Given the description of an element on the screen output the (x, y) to click on. 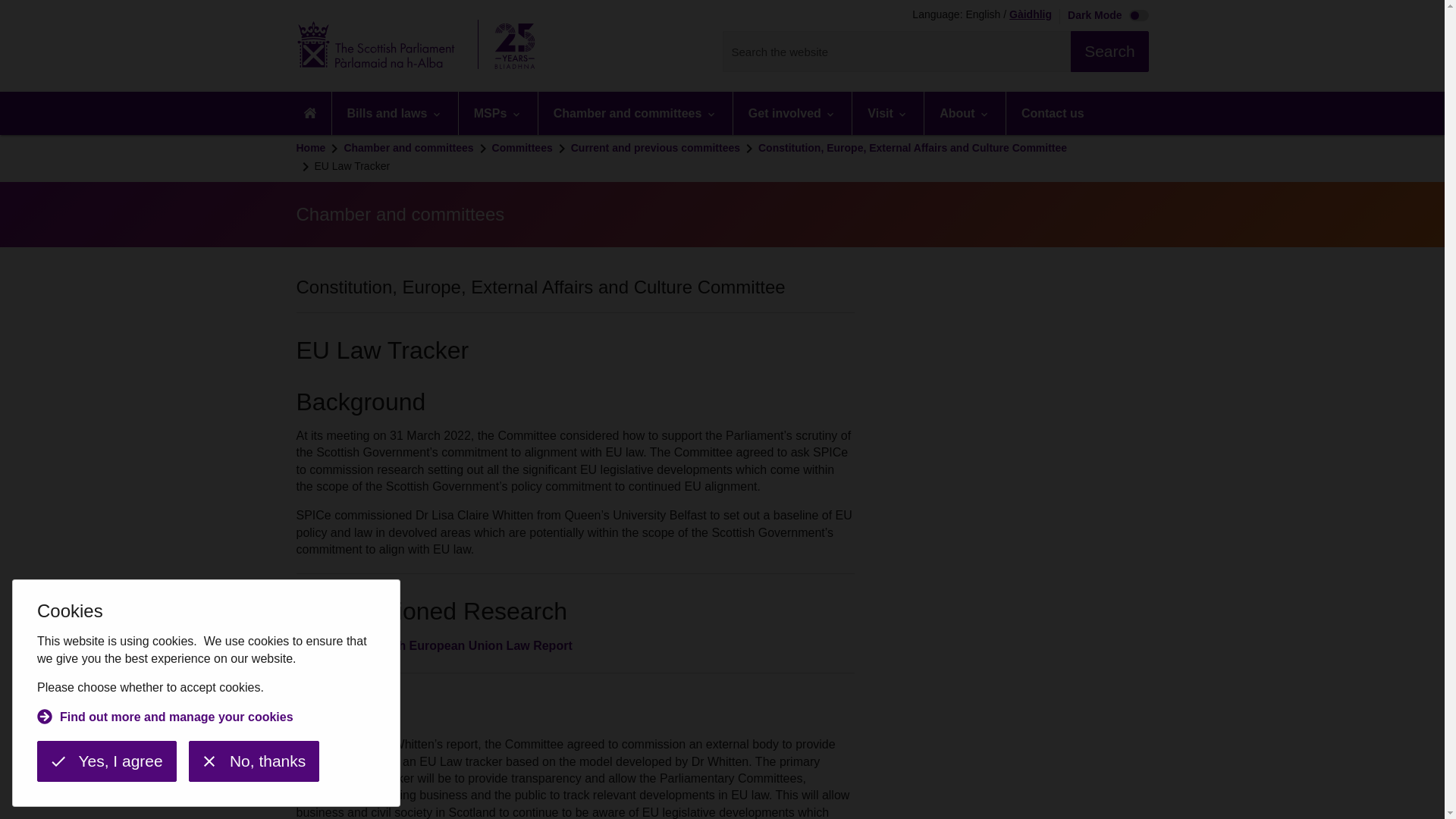
Bills and laws (394, 113)
No, thanks (252, 761)
Scottish Parliament Website home (419, 45)
MSPs (497, 113)
Yes, I agree (106, 761)
Search (1109, 51)
Find out more and manage your cookies (165, 718)
Dark Mode (1103, 16)
Chamber and committees (635, 113)
